Given the description of an element on the screen output the (x, y) to click on. 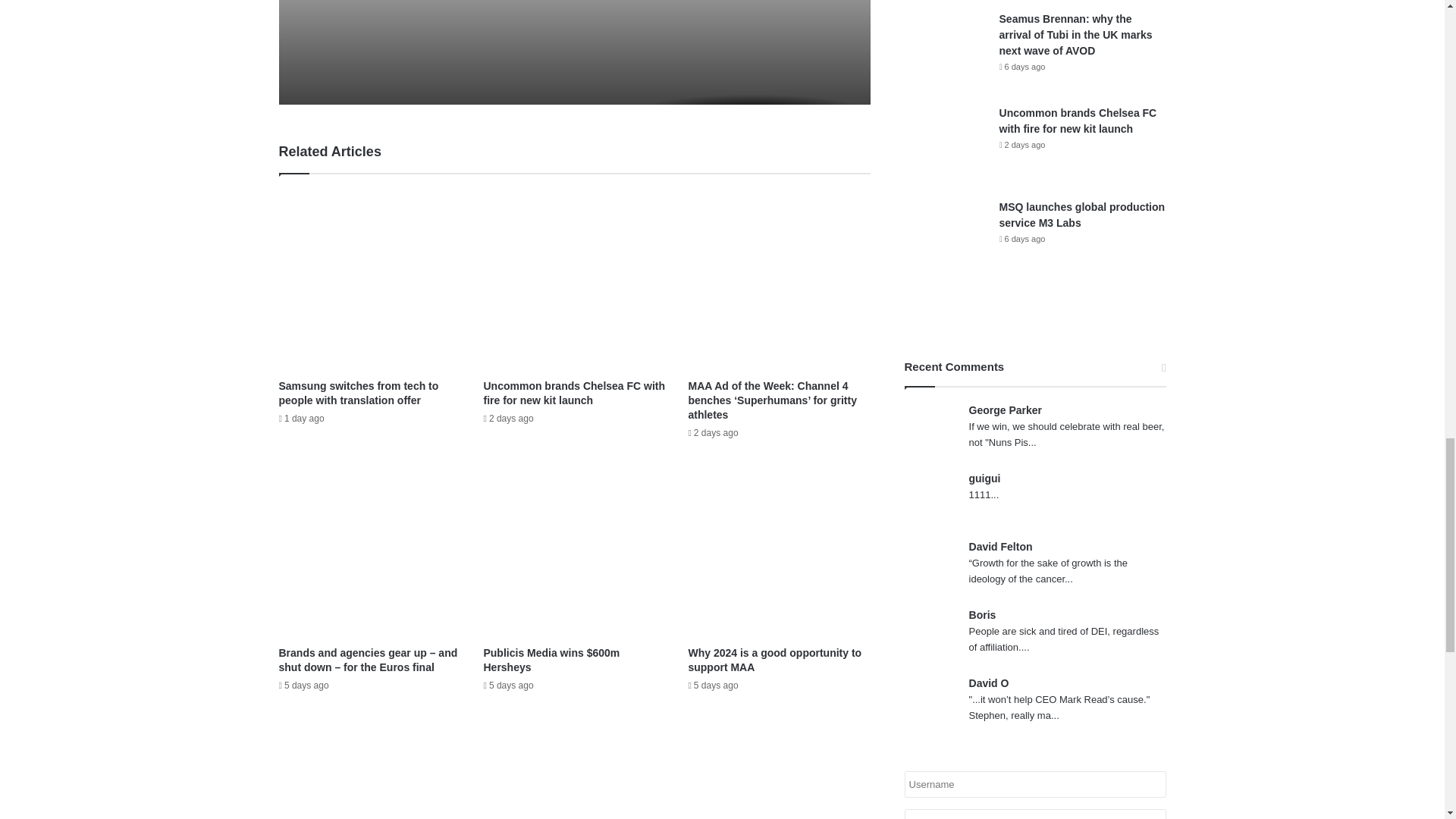
Username (1035, 784)
Password (1035, 814)
